Given the description of an element on the screen output the (x, y) to click on. 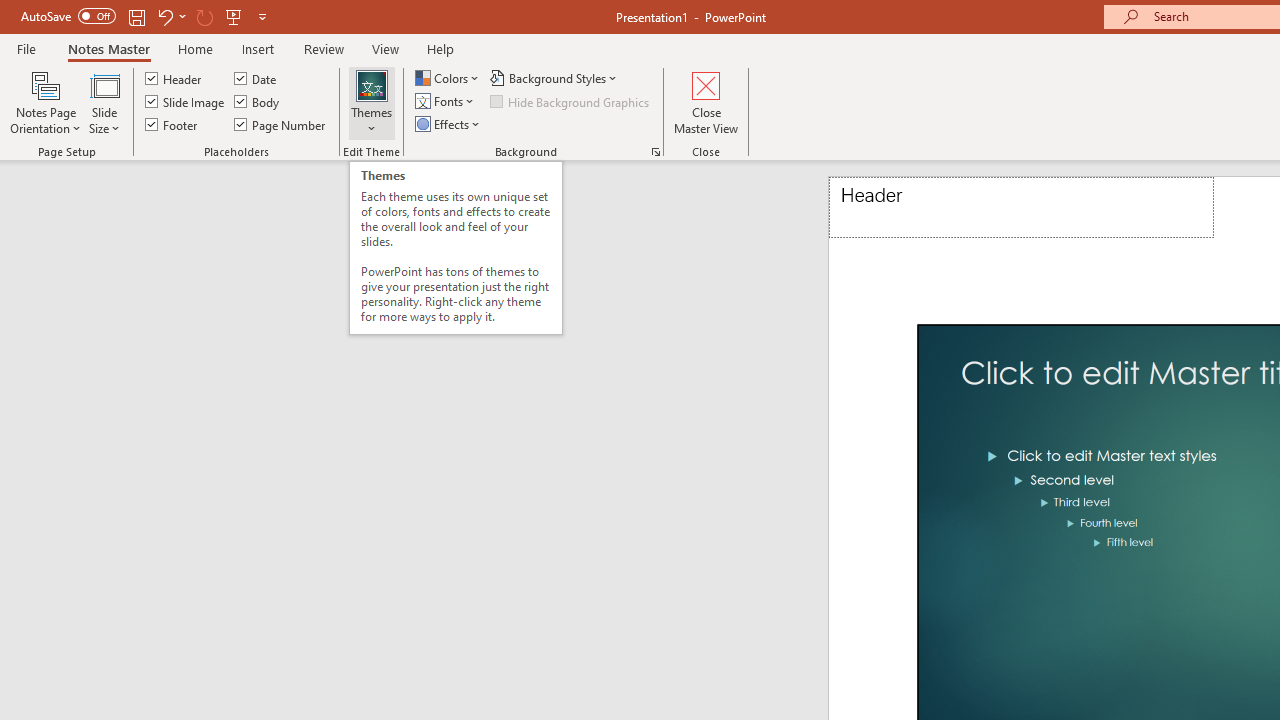
Slide Image (186, 101)
Date (256, 78)
Footer (172, 124)
Notes Master (108, 48)
Body (257, 101)
Hide Background Graphics (570, 101)
Fonts (446, 101)
Themes (372, 102)
